Given the description of an element on the screen output the (x, y) to click on. 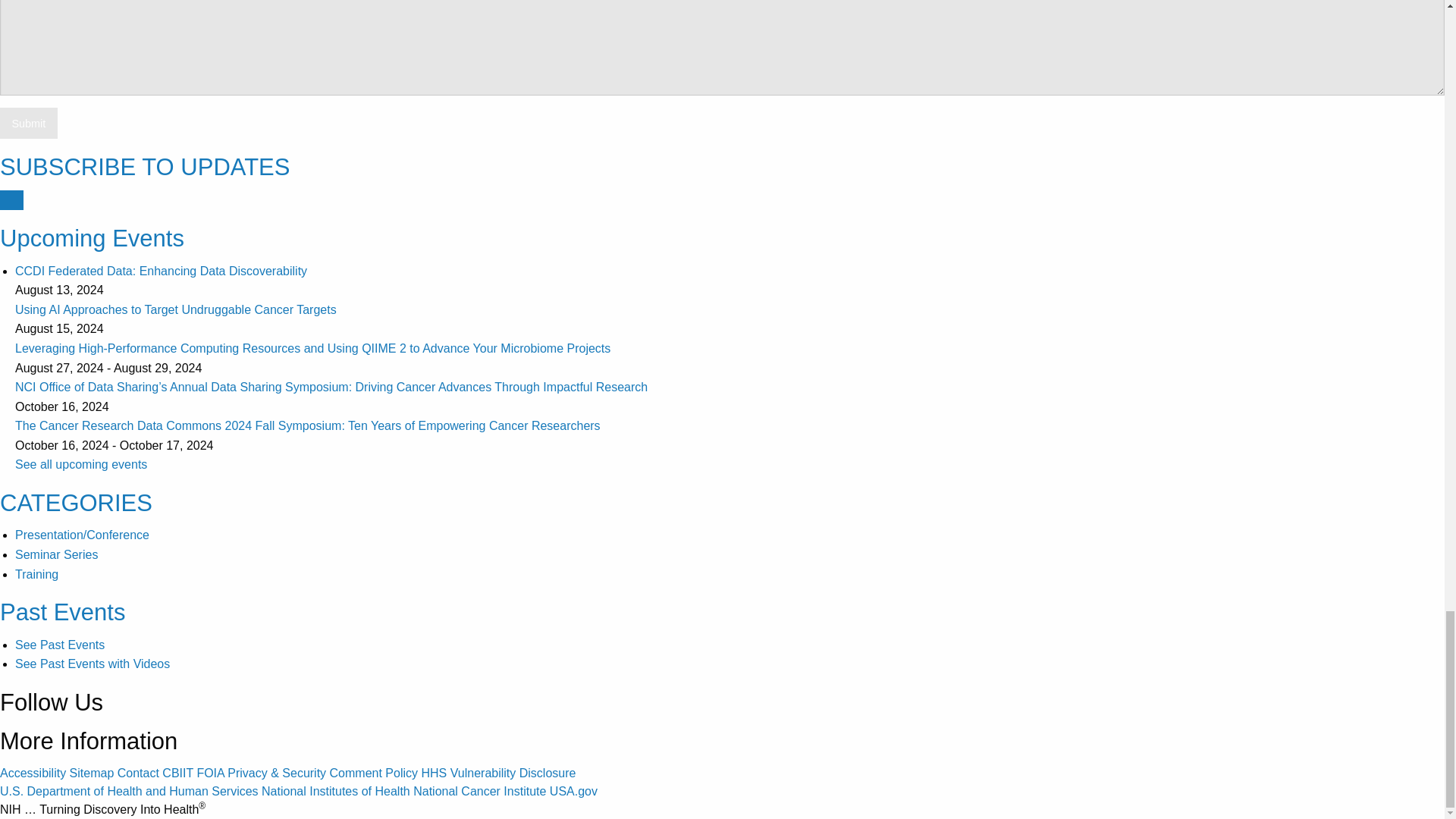
Submit (29, 122)
